Given the description of an element on the screen output the (x, y) to click on. 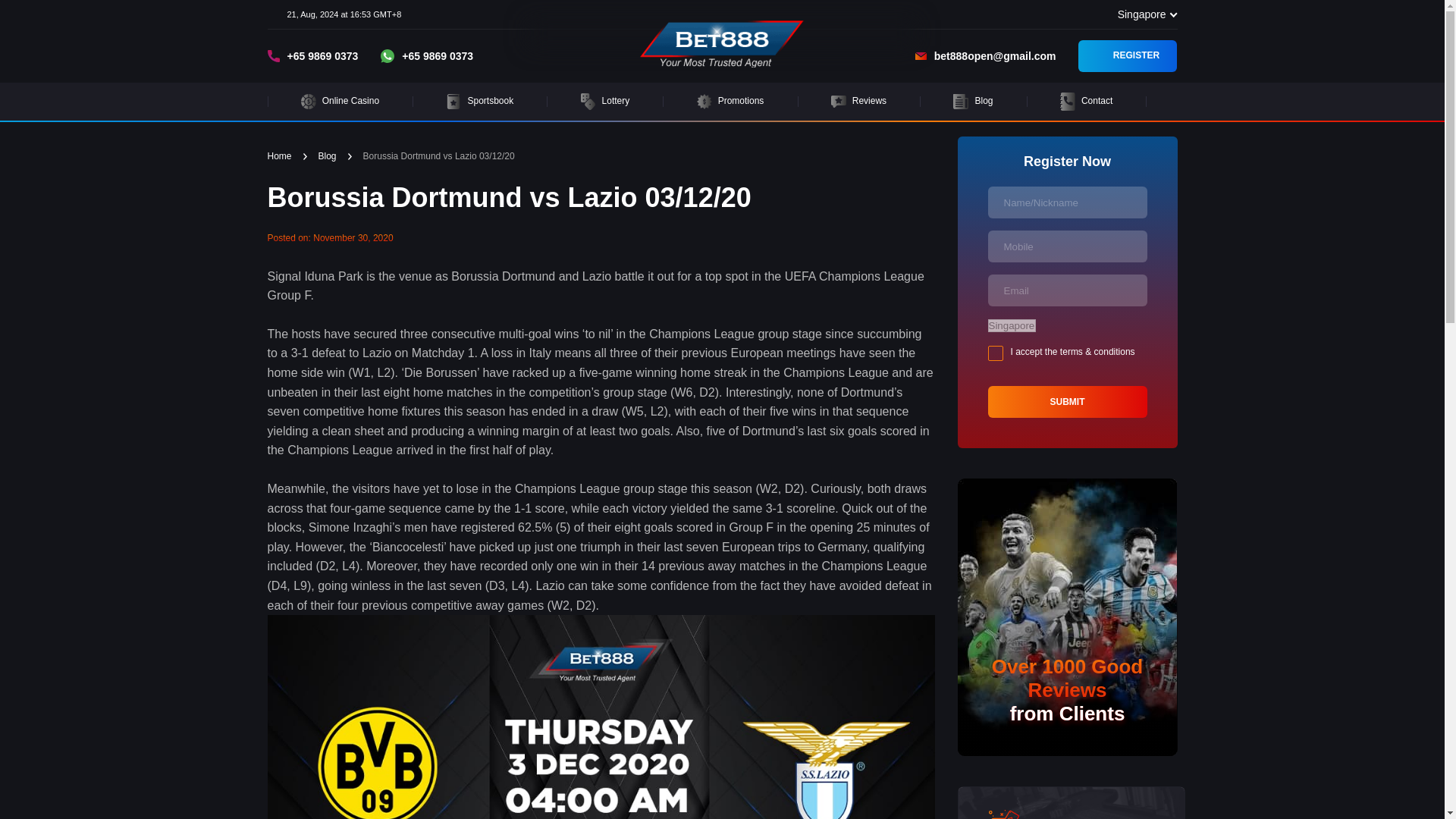
Contact (1086, 101)
Reviews (859, 101)
Blog (972, 101)
Online Casino (339, 101)
Sportsbook (479, 101)
Submit (1067, 401)
Promotions (729, 101)
Submit (1067, 401)
Blog (327, 156)
REGISTER (1127, 56)
